Given the description of an element on the screen output the (x, y) to click on. 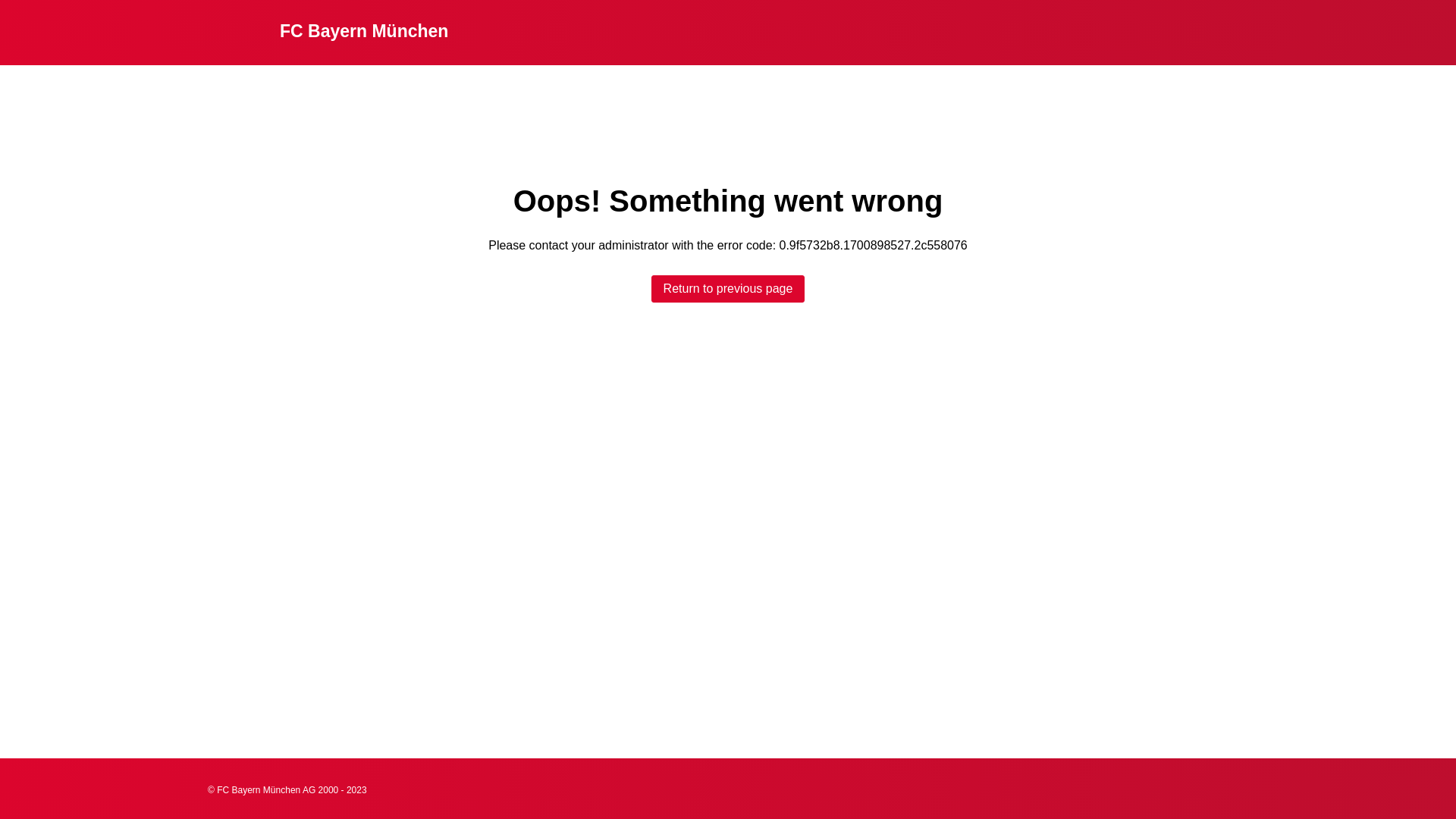
Return to previous page Element type: text (728, 288)
